Given the description of an element on the screen output the (x, y) to click on. 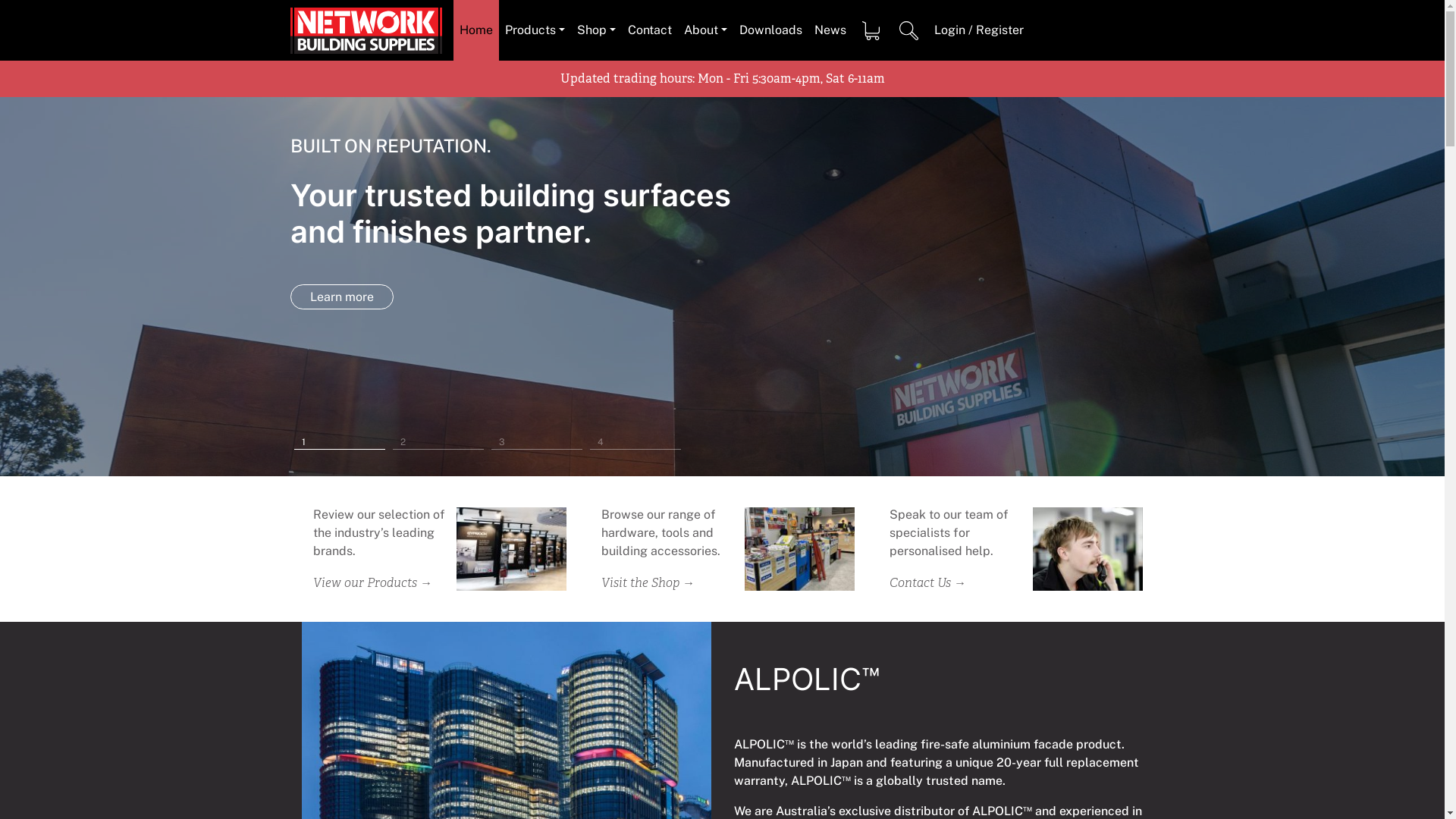
  Element type: text (909, 30)
Login / Register Element type: text (978, 30)
Contact Element type: text (649, 30)
Downloads Element type: text (770, 30)
About Element type: text (705, 30)
Home Element type: text (475, 30)
  Element type: text (871, 30)
Learn more Element type: text (340, 296)
Shop Element type: text (596, 30)
Products Element type: text (534, 30)
News Element type: text (830, 30)
Updated trading hours: Mon - Fri 5:30am-4pm, Sat 6-11am Element type: text (721, 78)
